Given the description of an element on the screen output the (x, y) to click on. 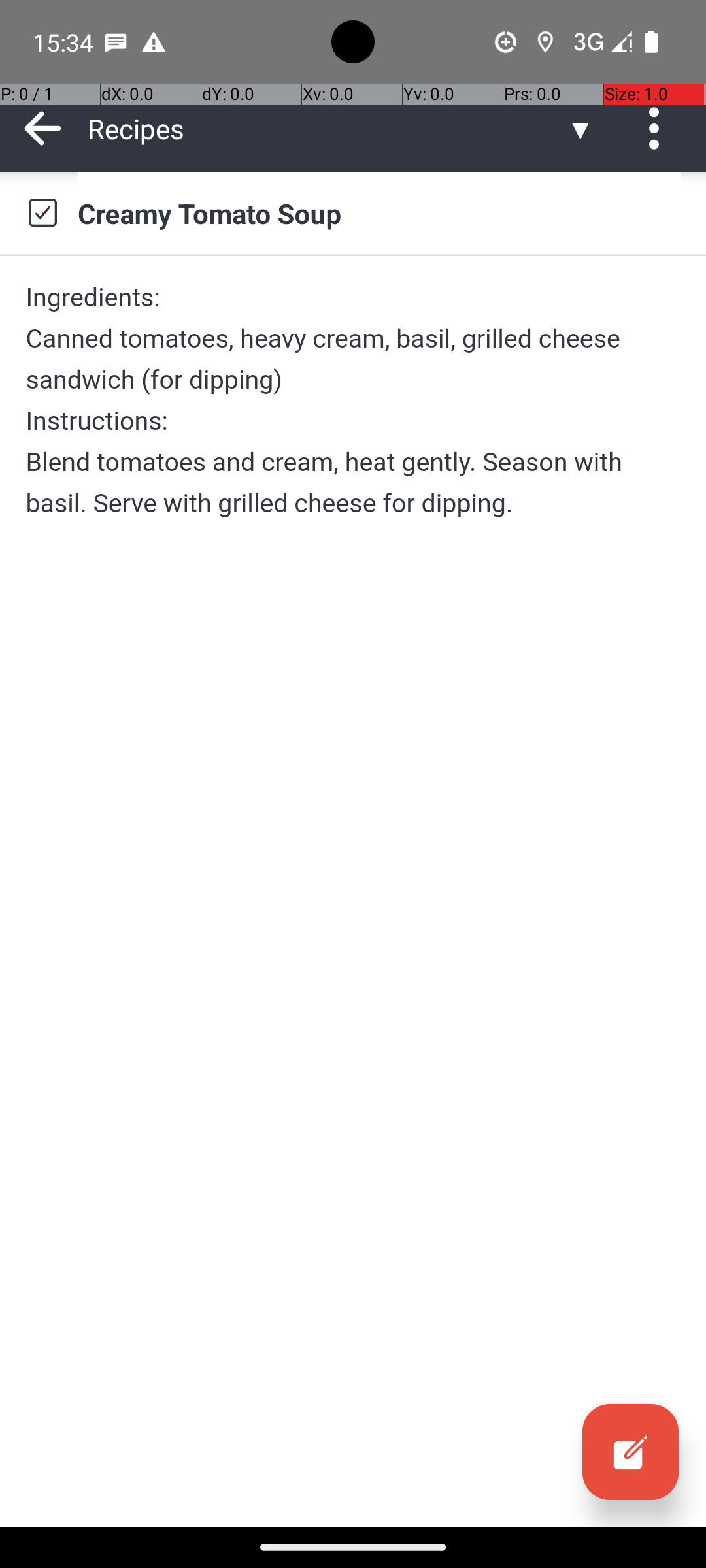
Creamy Tomato Soup Element type: android.widget.EditText (378, 213)
Edit, collapsed Element type: android.widget.Button (630, 1452)
Recipes Element type: android.widget.TextView (326, 128)
 Element type: android.widget.TextView (42, 212)
 Element type: android.widget.TextView (630, 1451)
Ingredients:
Canned tomatoes, heavy cream, basil, grilled cheese sandwich (for dipping)
Instructions:
Blend tomatoes and cream, heat gently. Season with basil. Serve with grilled cheese for dipping. Element type: android.widget.TextView (352, 399)
